Given the description of an element on the screen output the (x, y) to click on. 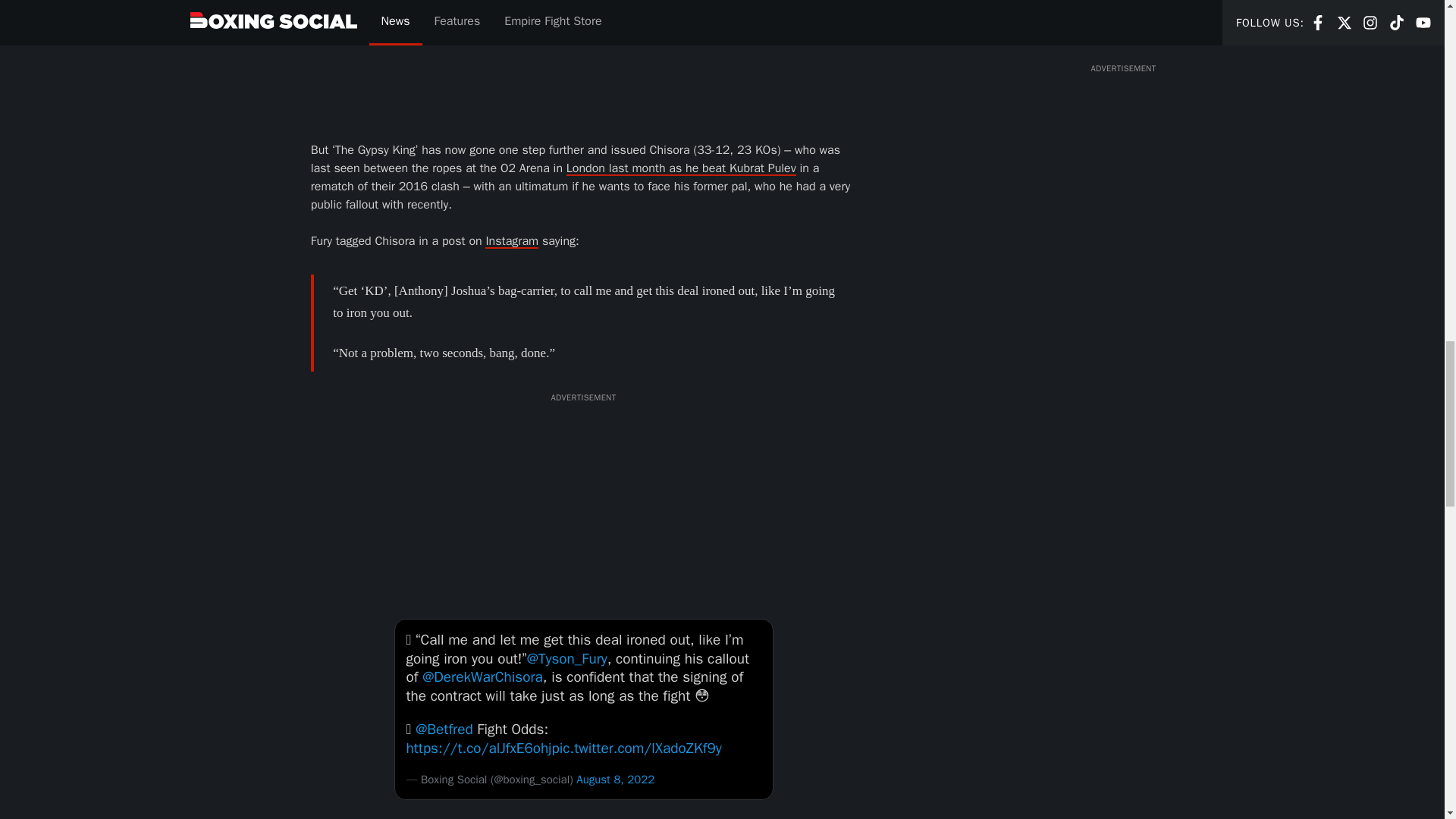
Instagram (511, 240)
August 8, 2022 (614, 779)
London last month as he beat Kubrat Pulev (681, 168)
